Given the description of an element on the screen output the (x, y) to click on. 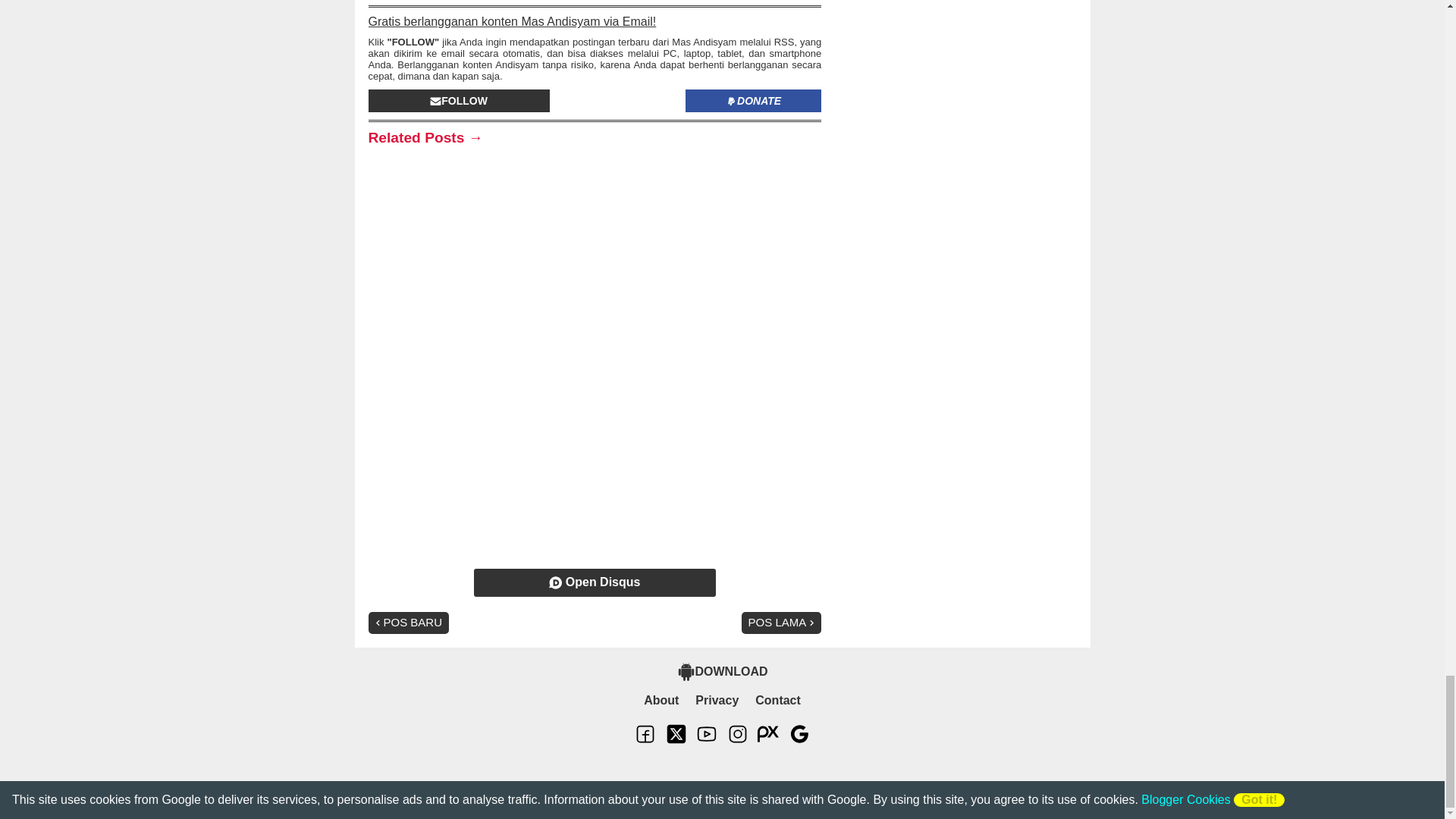
FOLLOW (459, 100)
POS BARU (408, 622)
POS LAMA (781, 622)
DONATE (753, 100)
